Given the description of an element on the screen output the (x, y) to click on. 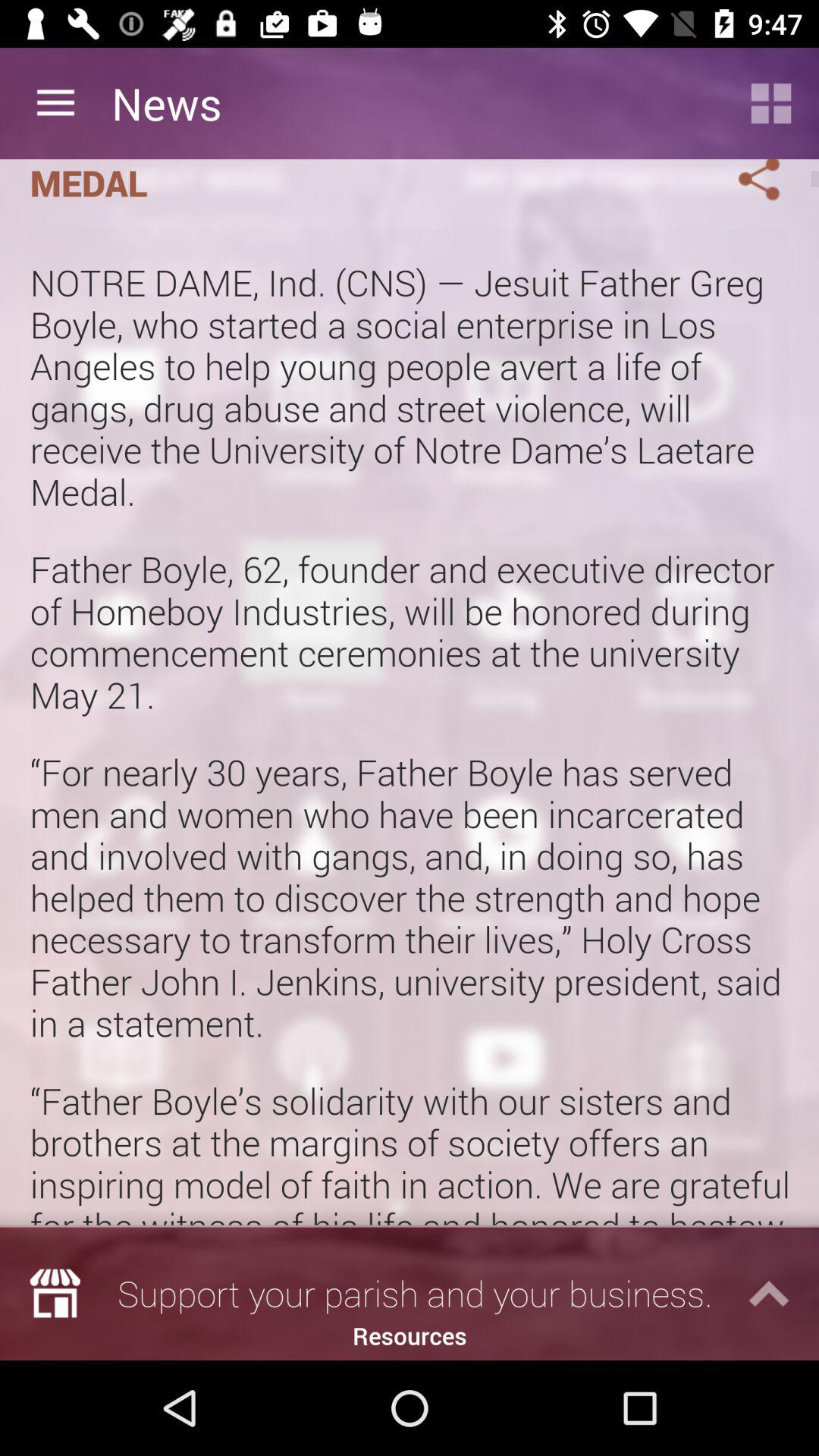
share this news (740, 183)
